Given the description of an element on the screen output the (x, y) to click on. 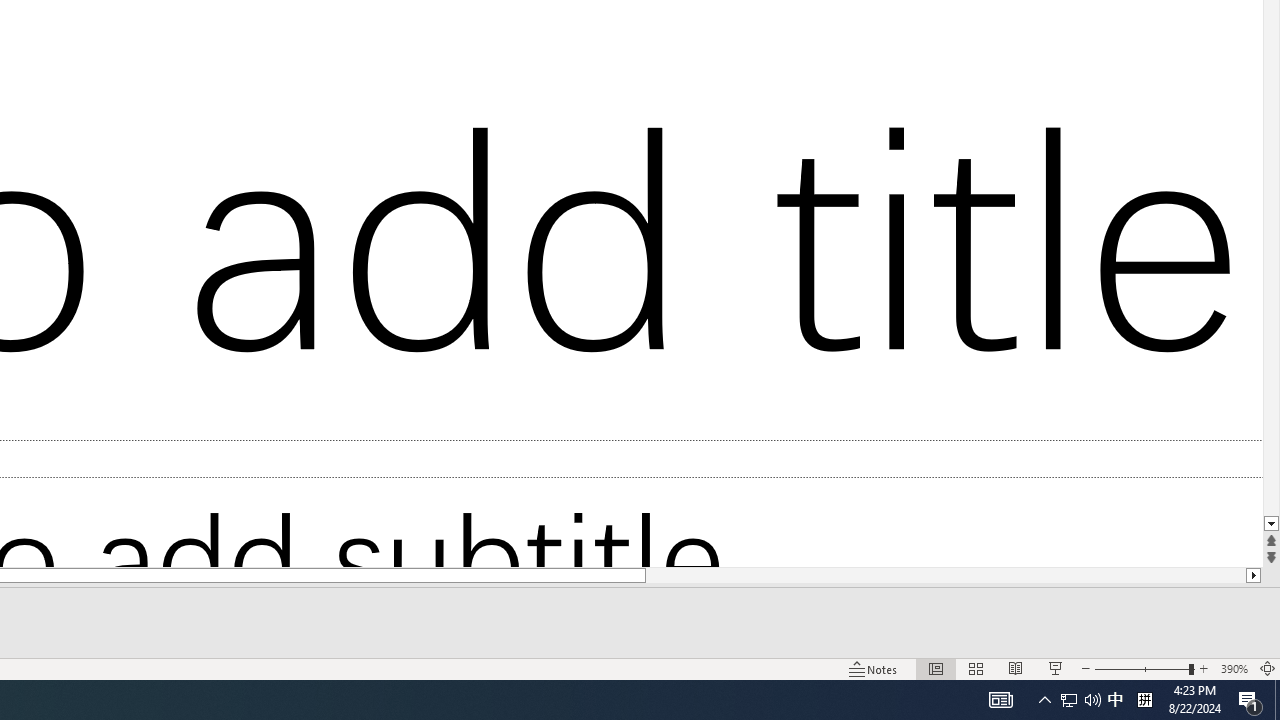
Zoom 390% (1234, 668)
